Given the description of an element on the screen output the (x, y) to click on. 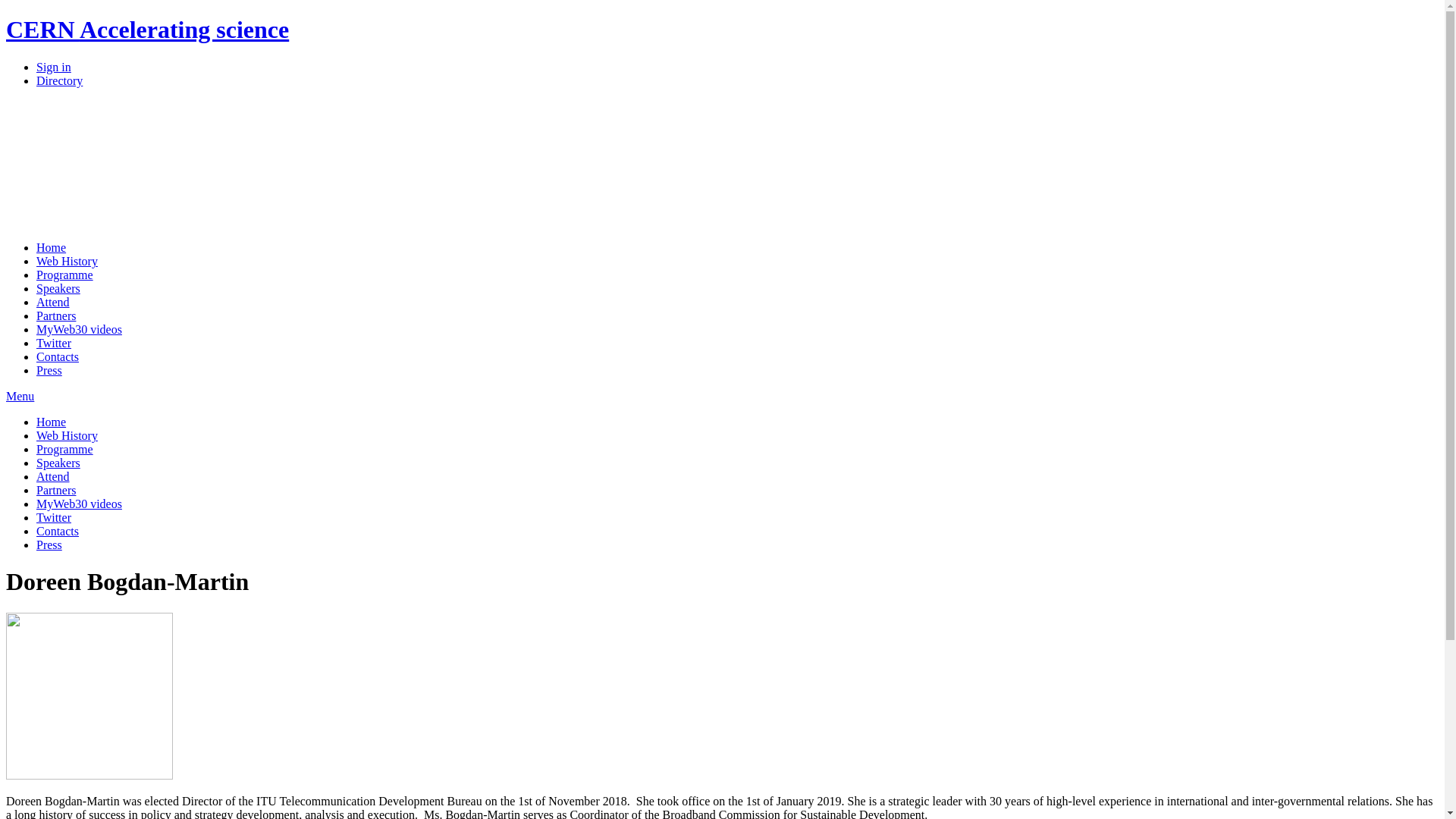
Contacts Element type: text (57, 530)
Programme Element type: text (64, 448)
Home Element type: text (50, 421)
MyWeb30 videos Element type: text (79, 503)
Attend Element type: text (52, 301)
Press Element type: text (49, 370)
Web History Element type: text (66, 435)
Programme Element type: text (64, 274)
Menu Element type: text (20, 395)
Directory Element type: text (59, 80)
Twitter Element type: text (53, 517)
Contacts Element type: text (57, 356)
Partners Element type: text (55, 489)
Sign in Element type: text (53, 66)
Press Element type: text (49, 544)
Partners Element type: text (55, 315)
MyWeb30 videos Element type: text (79, 329)
Web History Element type: text (66, 260)
Speakers Element type: text (58, 288)
Speakers Element type: text (58, 462)
Twitter Element type: text (53, 342)
Attend Element type: text (52, 476)
Home Element type: text (50, 247)
CERN Accelerating science Element type: text (147, 29)
